Given the description of an element on the screen output the (x, y) to click on. 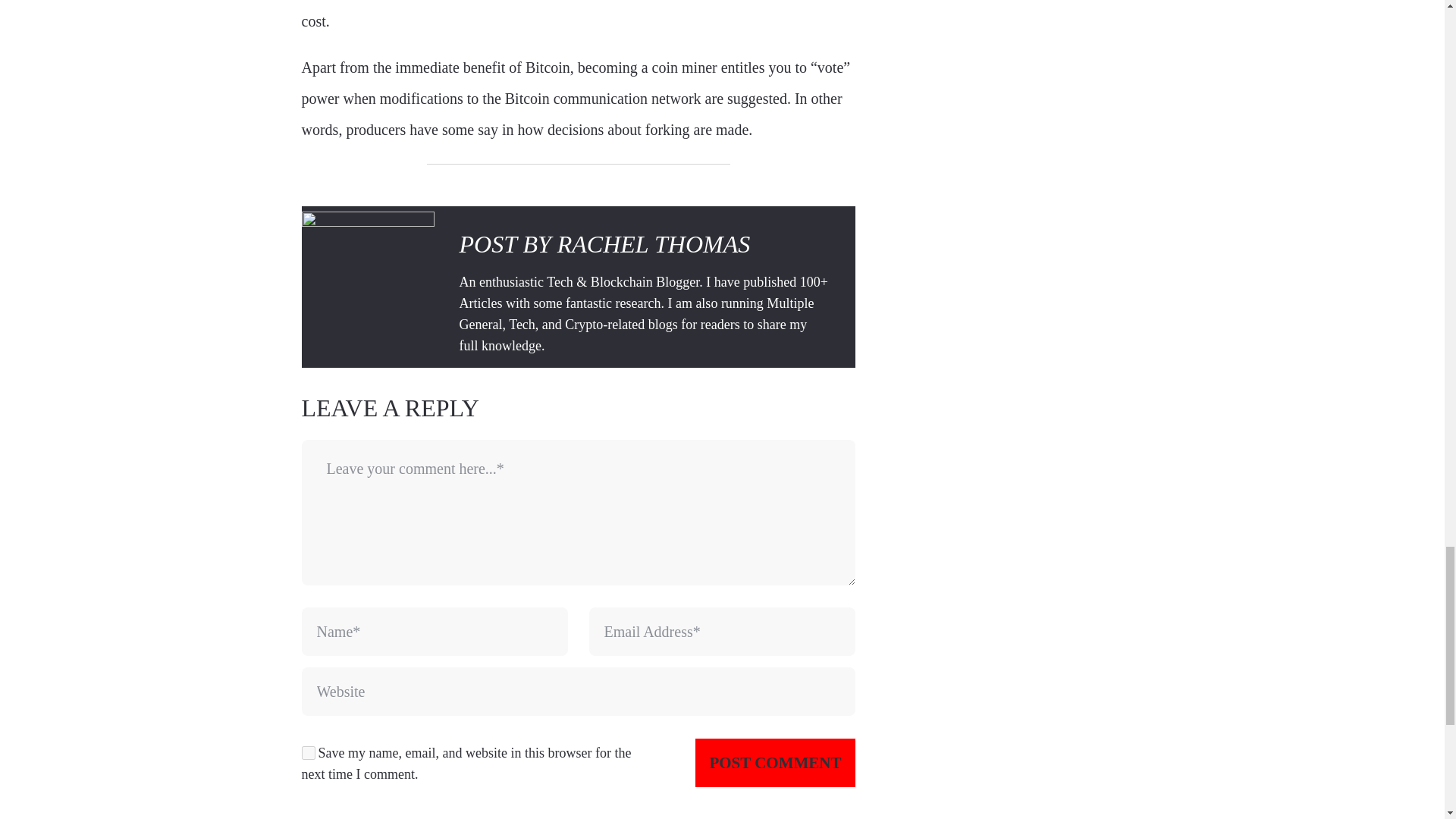
yes (308, 753)
RACHEL THOMAS (654, 243)
Post Comment (774, 762)
